Given the description of an element on the screen output the (x, y) to click on. 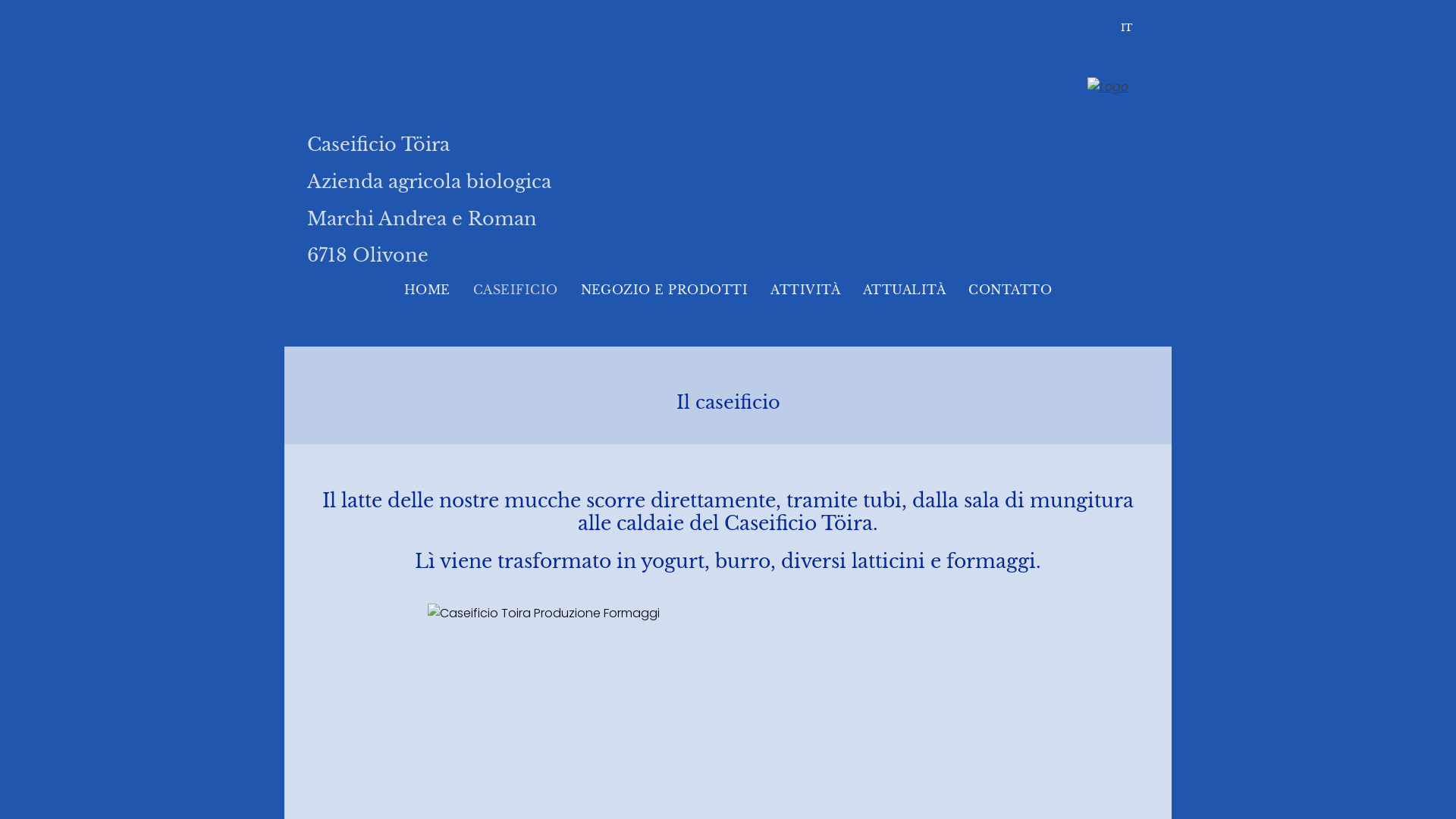
IT Element type: text (1130, 27)
CONTATTO Element type: text (1009, 289)
NEGOZIO E PRODOTTI Element type: text (664, 289)
CASEIFICIO Element type: text (515, 289)
HOME Element type: text (427, 289)
